Given the description of an element on the screen output the (x, y) to click on. 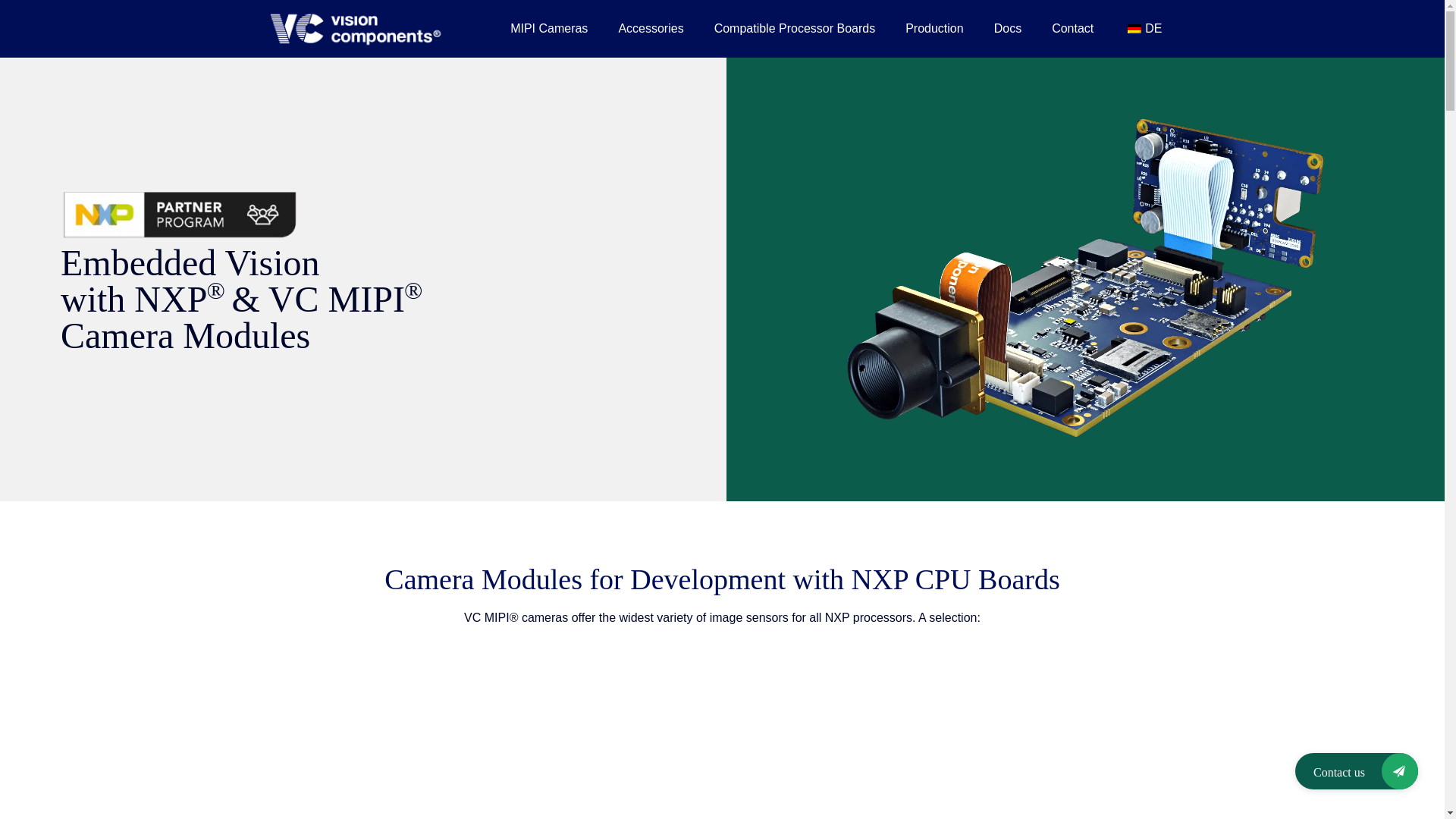
DE (1142, 28)
Accessories (650, 28)
Docs (1007, 28)
Production (933, 28)
Compatible Processor Boards (794, 28)
Contact (1072, 28)
German (1133, 28)
Contact us (1356, 770)
MIPI Cameras (548, 28)
